Given the description of an element on the screen output the (x, y) to click on. 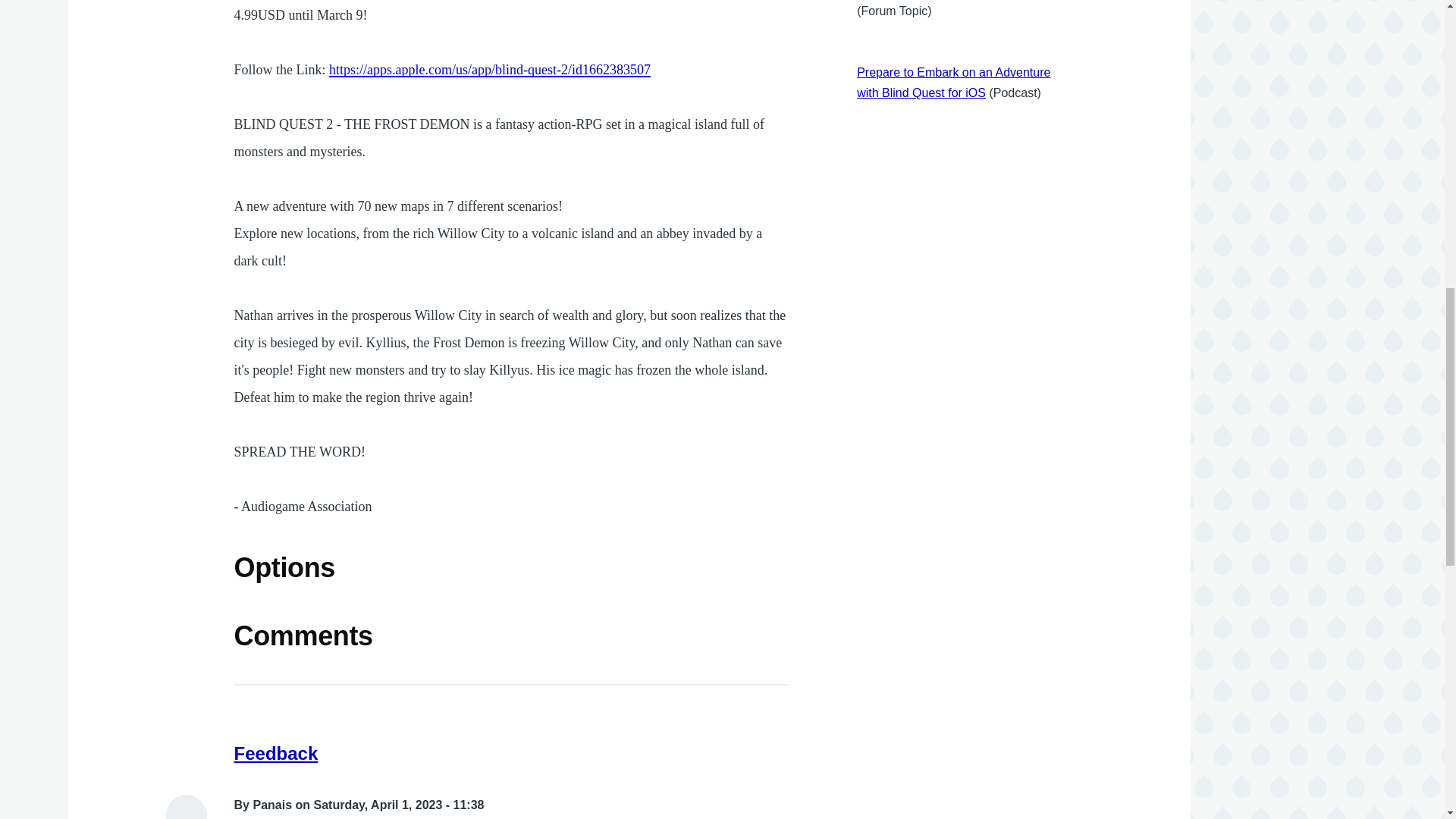
Prepare to Embark on an Adventure with Blind Quest for iOS (953, 82)
Feedback (276, 752)
